Given the description of an element on the screen output the (x, y) to click on. 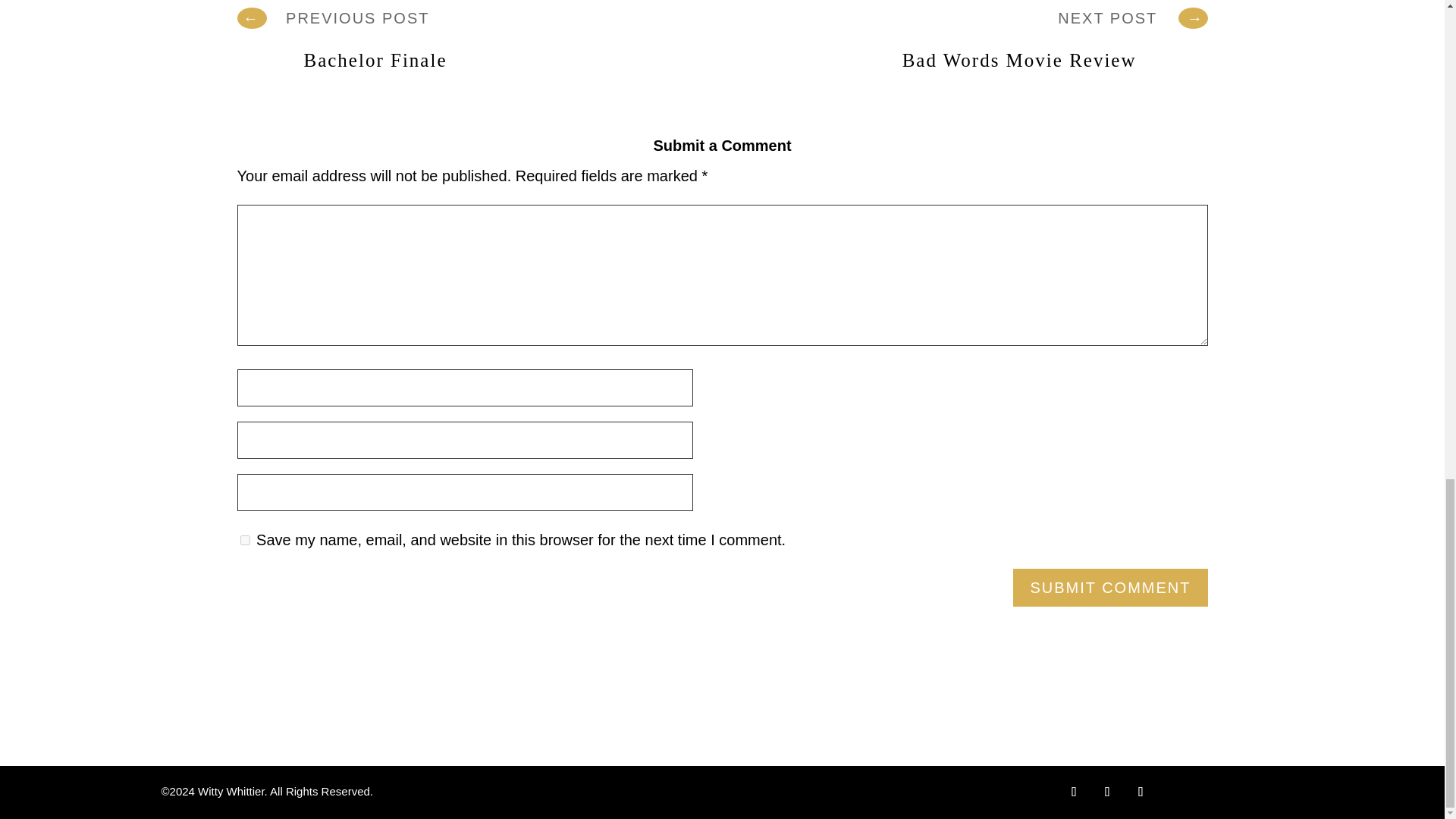
Bad Words Movie Review (1011, 52)
Follow on Youtube (1140, 791)
yes (244, 540)
Bachelor Finale (408, 52)
Follow on Facebook (1074, 791)
Follow on Twitter (1107, 791)
SUBMIT COMMENT (1110, 587)
